Given the description of an element on the screen output the (x, y) to click on. 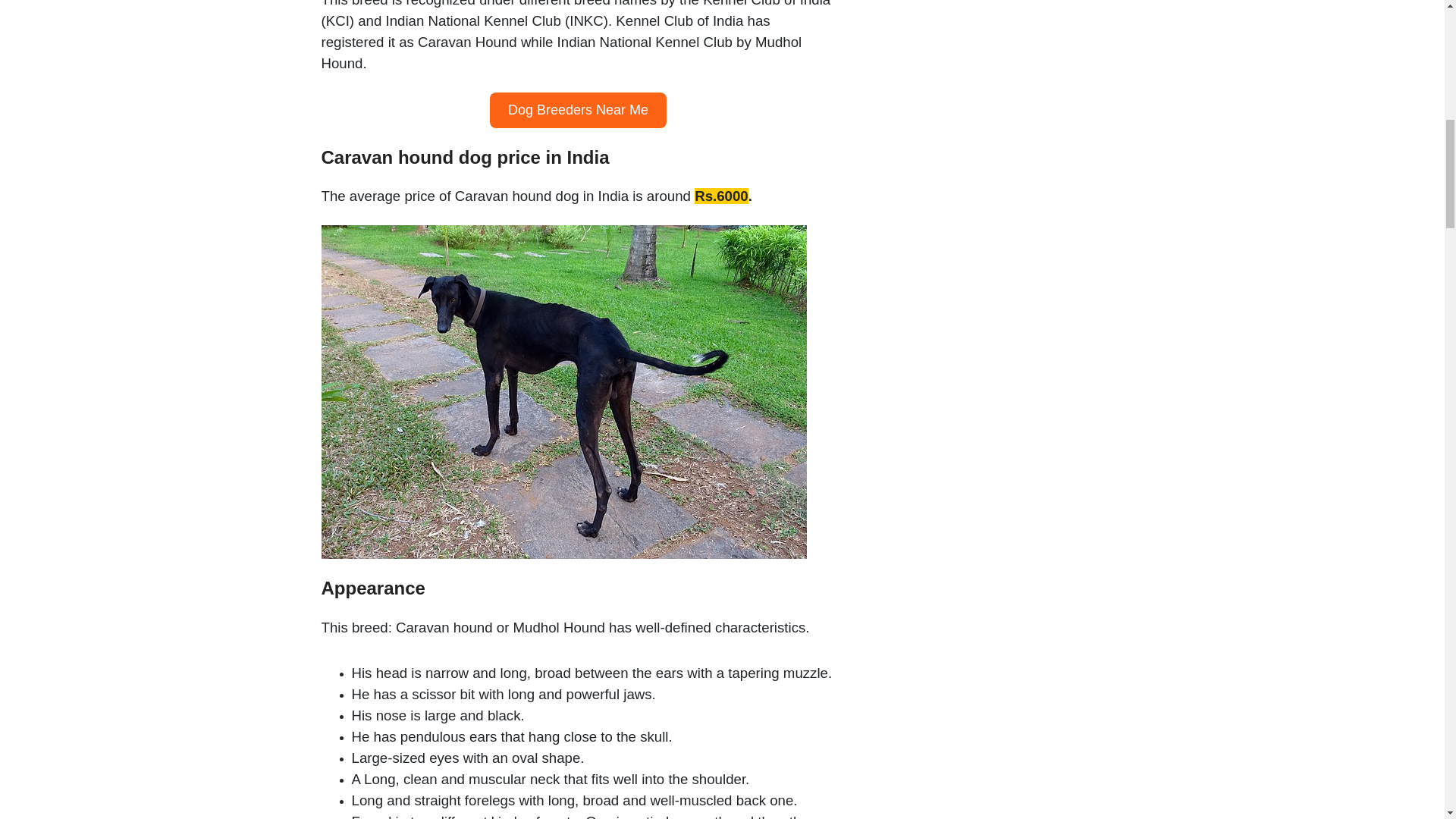
Dog Breeders Near Me (577, 109)
